Given the description of an element on the screen output the (x, y) to click on. 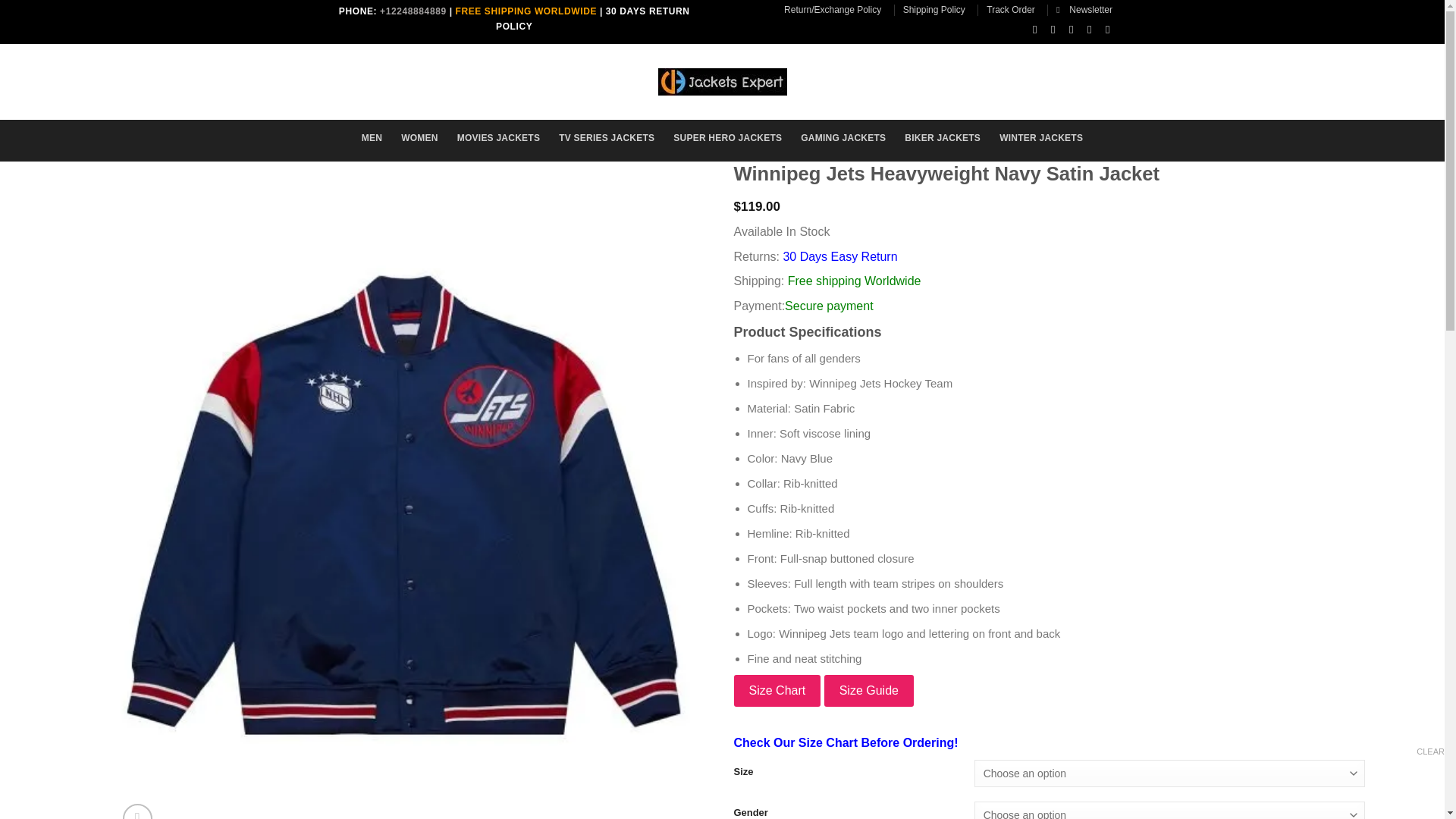
Cart (1072, 78)
Search (411, 76)
Shipping Policy (933, 9)
GAMING JACKETS (842, 137)
WINTER JACKETS (1040, 137)
Sign up for Newsletter (1084, 9)
TV SERIES JACKETS (606, 137)
BIKER JACKETS (941, 137)
LOGIN (971, 79)
Jackets Expert (721, 81)
